Given the description of an element on the screen output the (x, y) to click on. 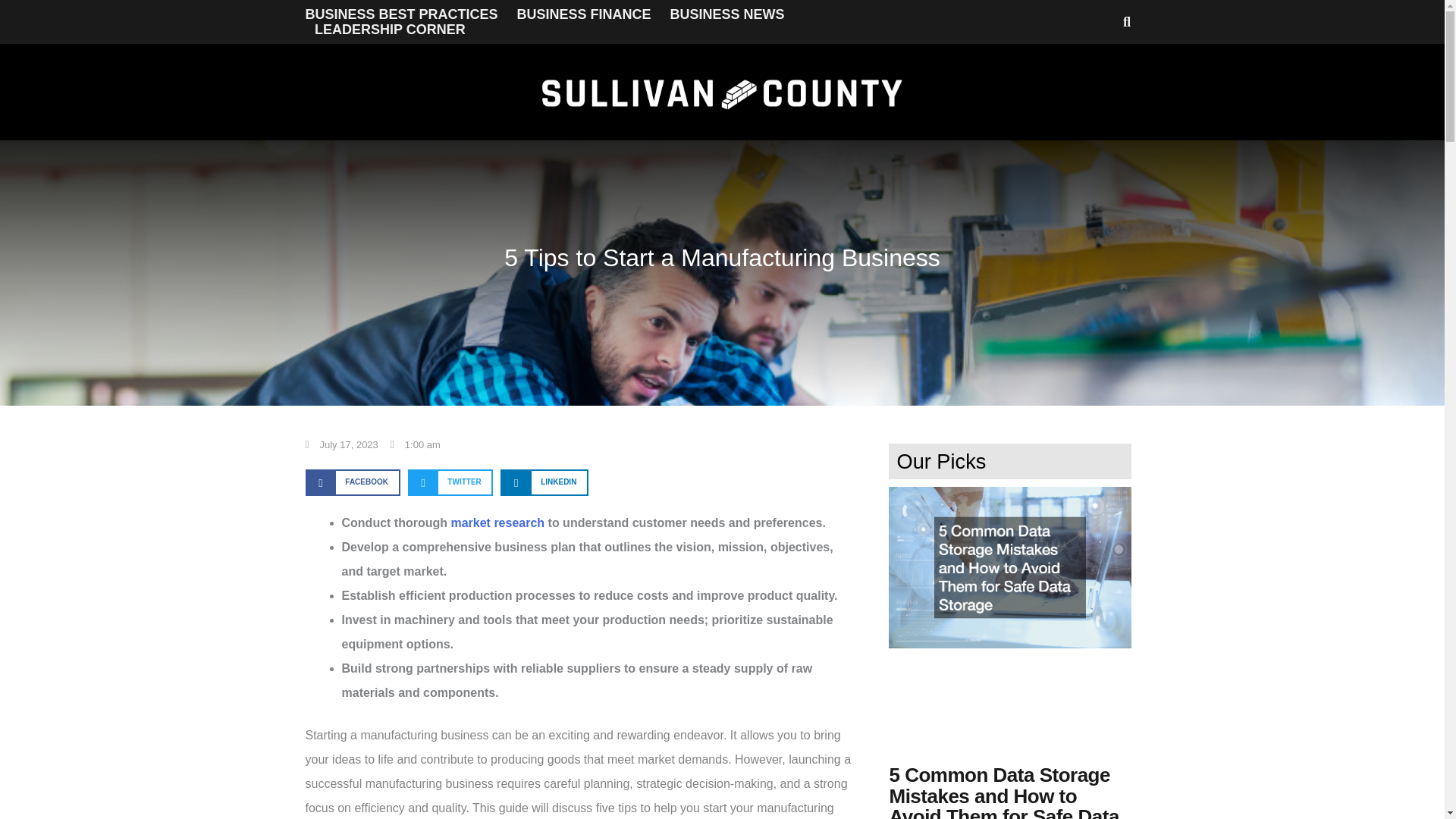
BUSINESS FINANCE (583, 14)
July 17, 2023 (340, 443)
market research (496, 522)
BUSINESS BEST PRACTICES (400, 14)
LEADERSHIP CORNER (389, 29)
BUSINESS NEWS (726, 14)
